Given the description of an element on the screen output the (x, y) to click on. 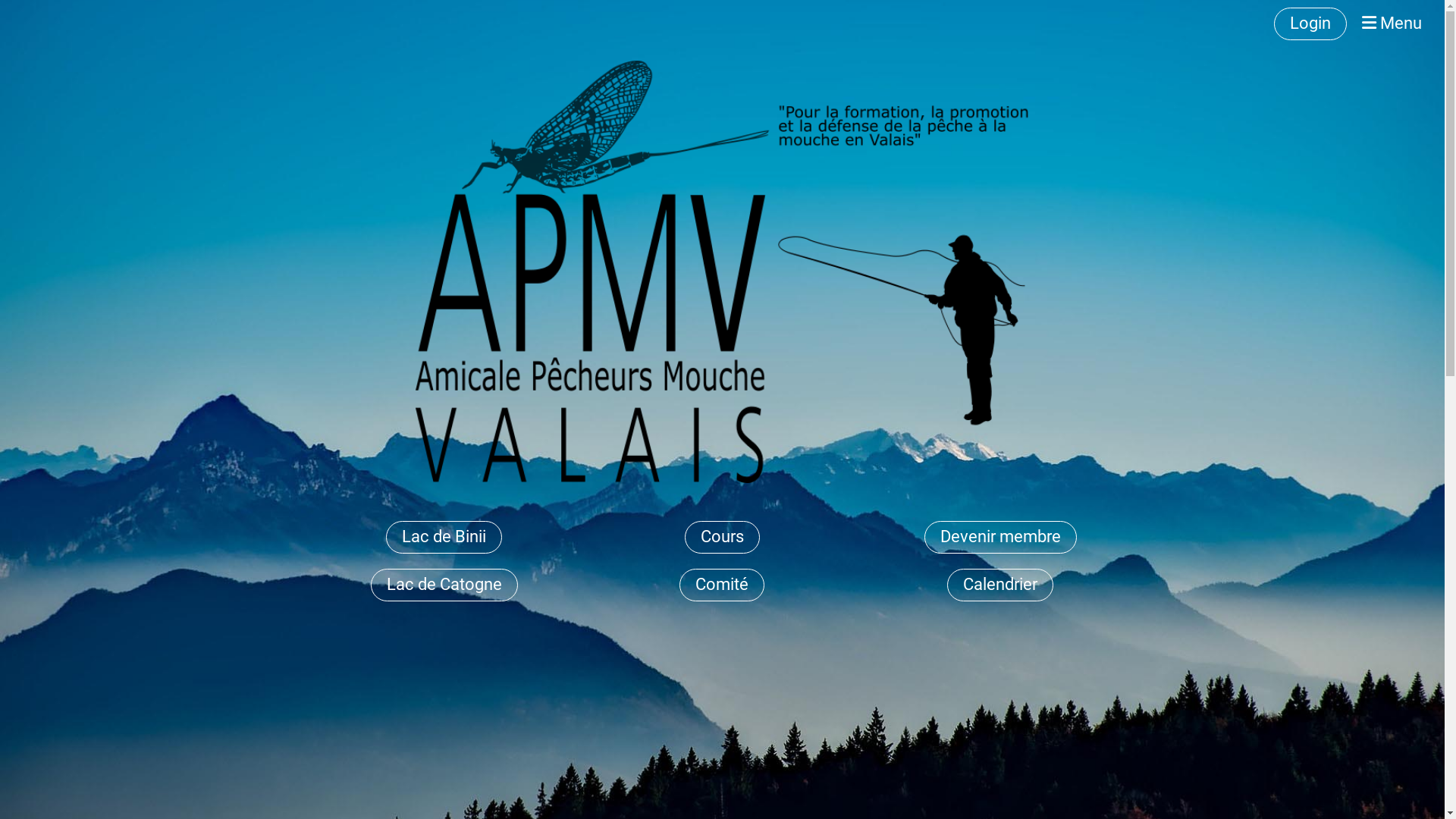
Lac de Binii Element type: text (443, 536)
Devenir membre Element type: text (1000, 536)
Login Element type: text (1310, 23)
Menu Element type: text (1391, 23)
Cours Element type: text (721, 536)
Lac de Catogne Element type: text (443, 584)
Calendrier Element type: text (1000, 584)
